Given the description of an element on the screen output the (x, y) to click on. 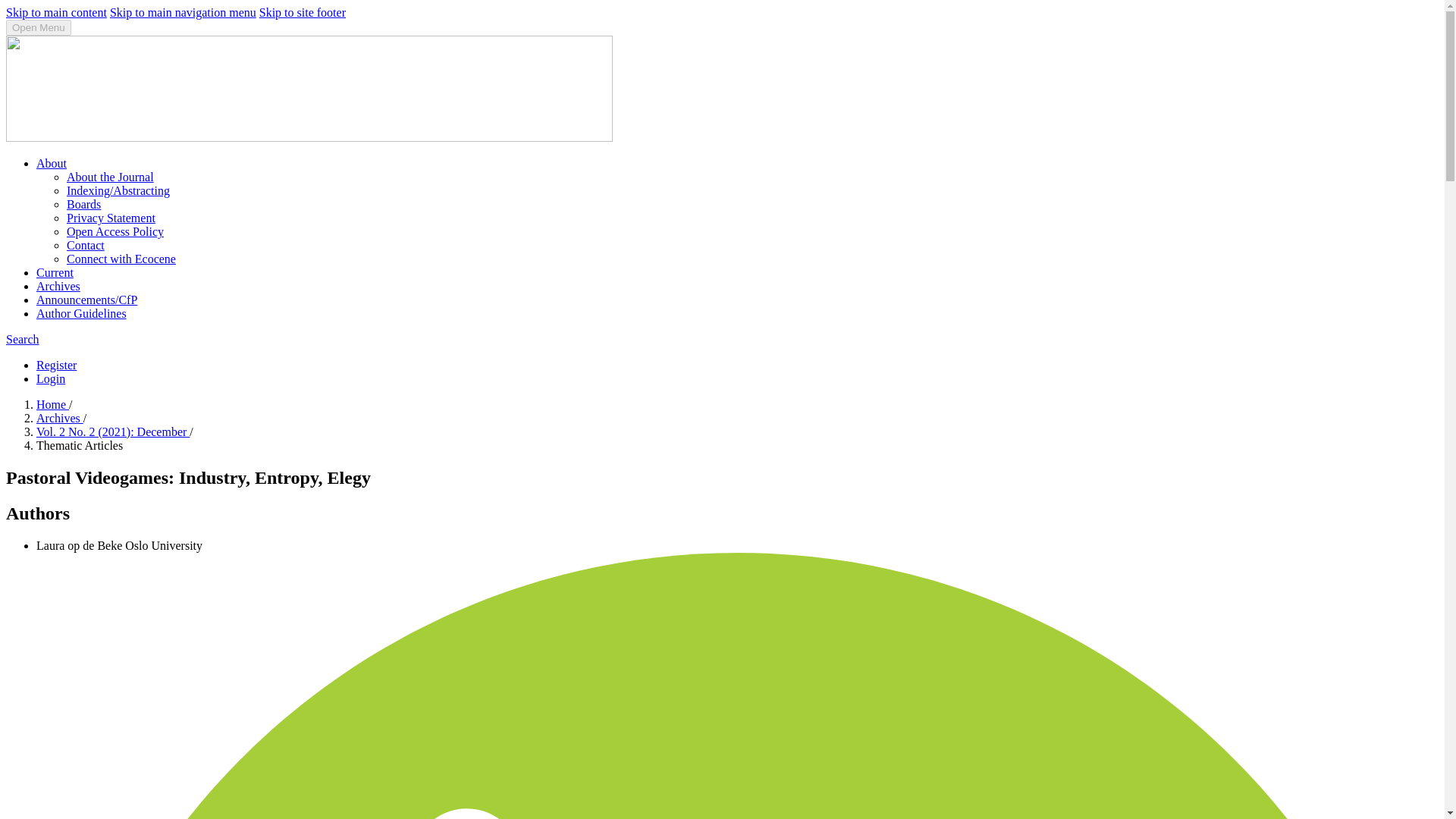
Login (50, 378)
Open Menu (38, 27)
Privacy Statement (110, 217)
Contact (85, 245)
Skip to main navigation menu (183, 11)
About (51, 163)
Archives (58, 286)
About the Journal (110, 176)
Search (22, 338)
Skip to main content (55, 11)
